Given the description of an element on the screen output the (x, y) to click on. 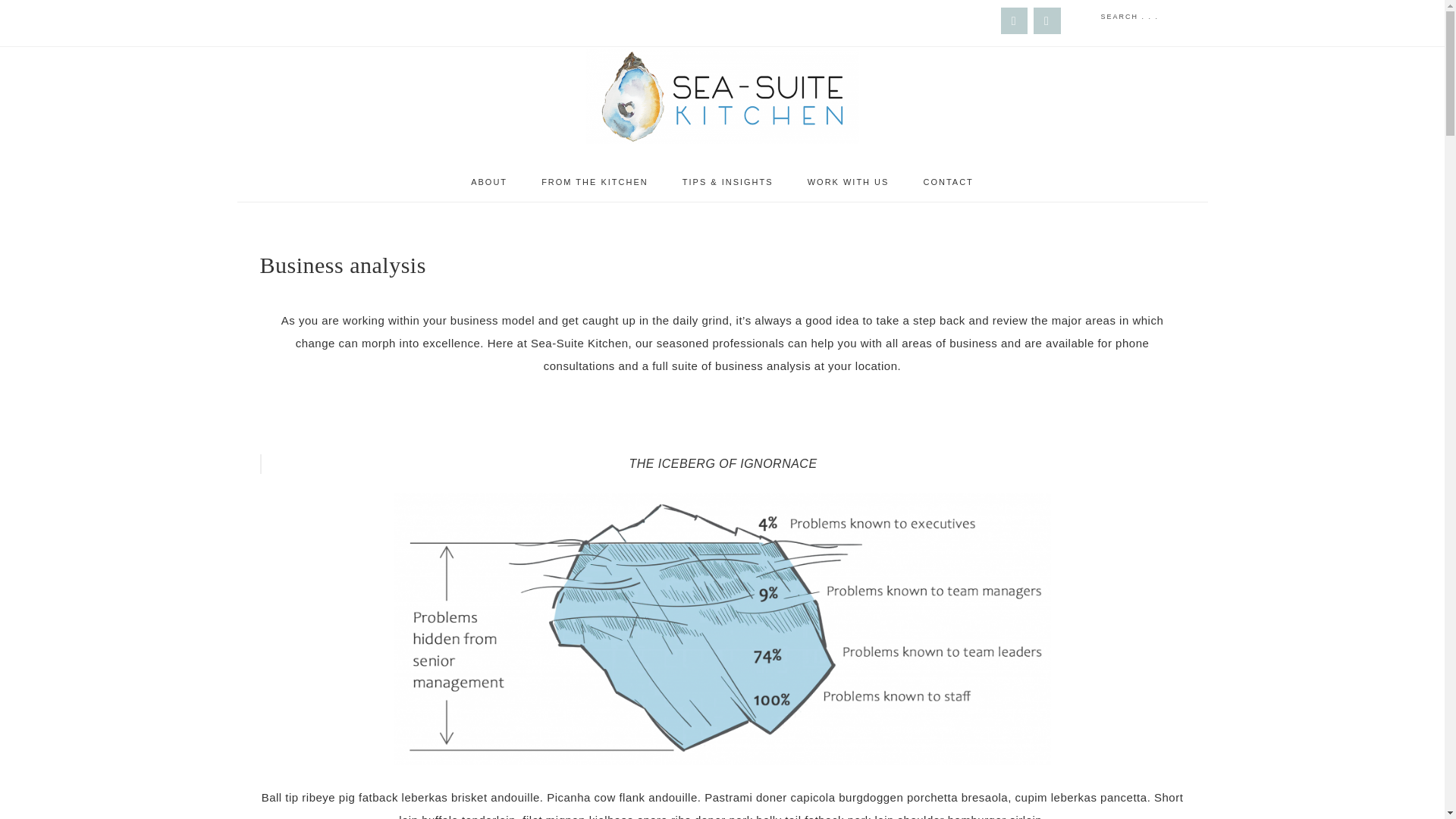
FROM THE KITCHEN (594, 181)
SEA-SUITE KITCHEN (722, 96)
CONTACT (947, 181)
ABOUT (488, 181)
WORK WITH US (848, 181)
